Given the description of an element on the screen output the (x, y) to click on. 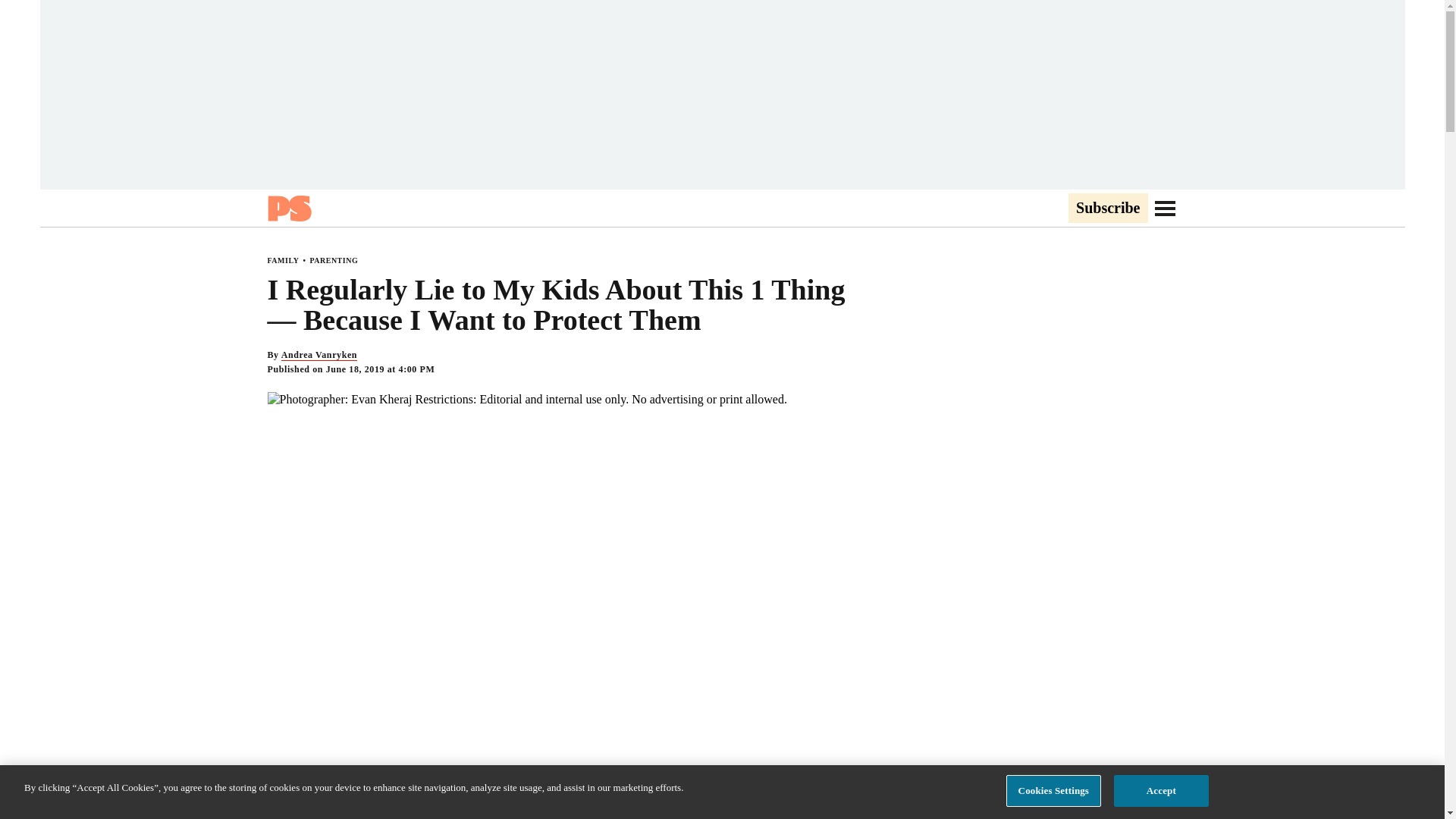
FAMILY (282, 260)
Go to Navigation (1164, 207)
Popsugar (288, 208)
Andrea Vanryken (318, 355)
PARENTING (333, 260)
Subscribe (1107, 208)
Go to Navigation (1164, 207)
